Given the description of an element on the screen output the (x, y) to click on. 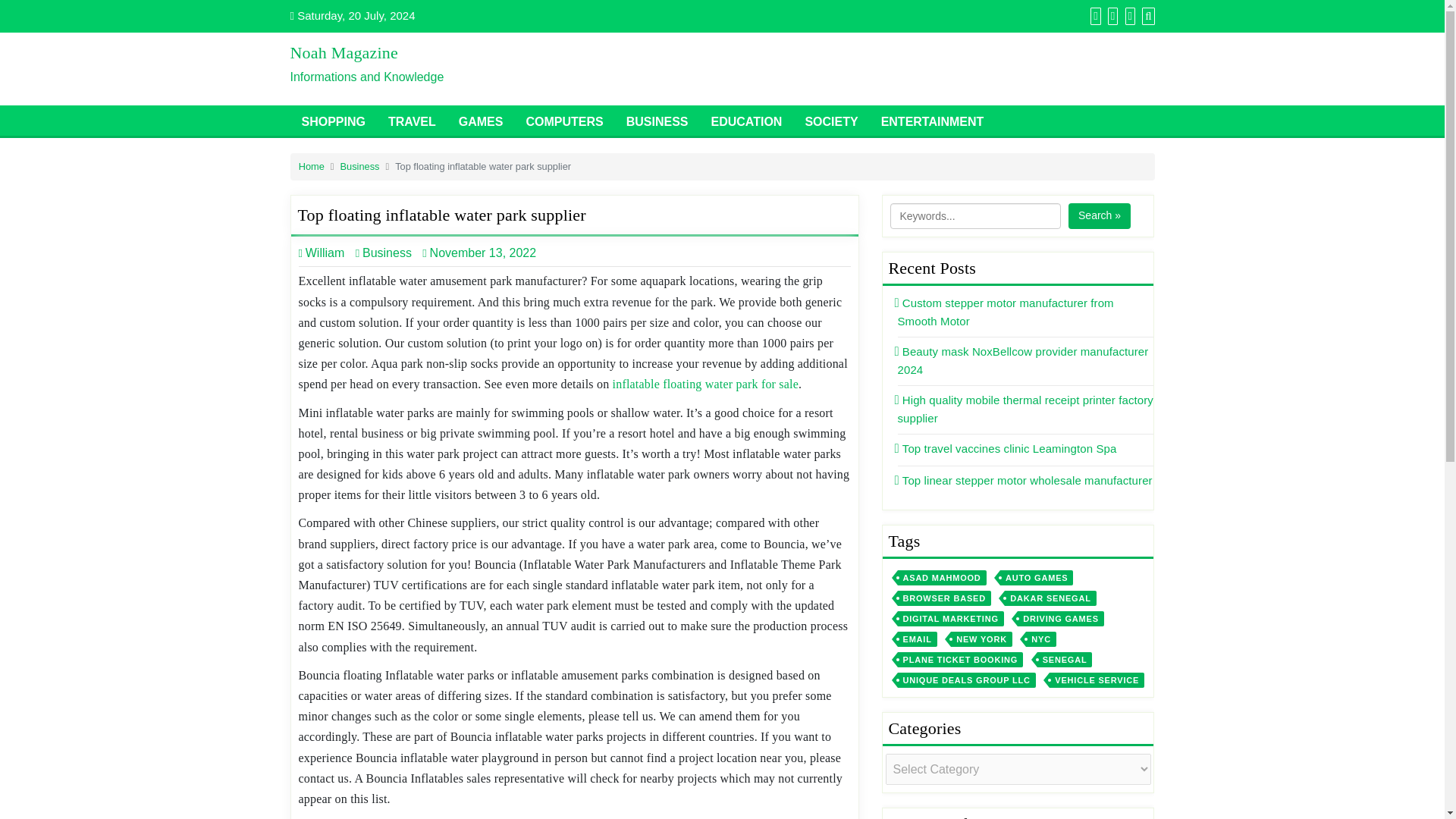
Top travel vaccines clinic Leamington Spa (1007, 448)
Beauty mask NoxBellcow provider manufacturer 2024 (1023, 359)
inflatable floating water park for sale (704, 383)
November 13, 2022 (482, 252)
DAKAR SENEGAL (1050, 598)
Business (383, 252)
Custom stepper motor manufacturer from Smooth Motor (1005, 311)
Home (311, 165)
NYC (1041, 639)
ENTERTAINMENT (932, 120)
SOCIETY (831, 120)
DIGITAL MARKETING (951, 618)
BROWSER BASED (944, 598)
AUTO GAMES (1036, 577)
SHOPPING (332, 120)
